Given the description of an element on the screen output the (x, y) to click on. 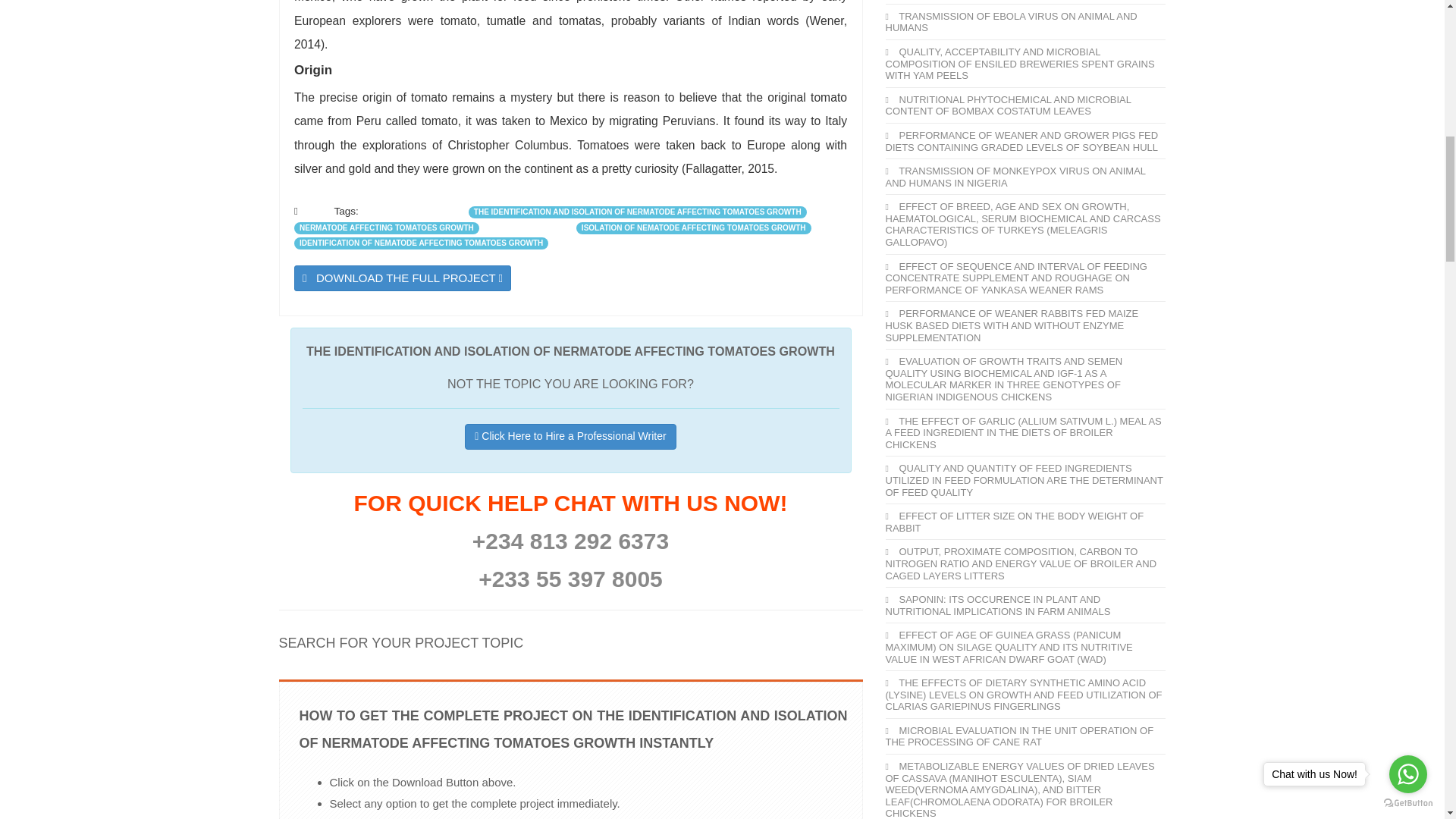
IDENTIFICATION OF NEMATODE AFFECTING TOMATOES GROWTH (421, 243)
TRANSMISSION OF EBOLA VIRUS ON ANIMAL AND HUMANS (1011, 22)
NERMATODE AFFECTING TOMATOES GROWTH (386, 227)
Click Here to Hire a Professional Writer (569, 436)
ISOLATION OF NEMATODE AFFECTING TOMATOES GROWTH (693, 227)
Click Here to Hire a Professional Writer (569, 436)
EFFECT OF LITTER SIZE ON THE BODY WEIGHT OF RABBIT (1014, 521)
